Given the description of an element on the screen output the (x, y) to click on. 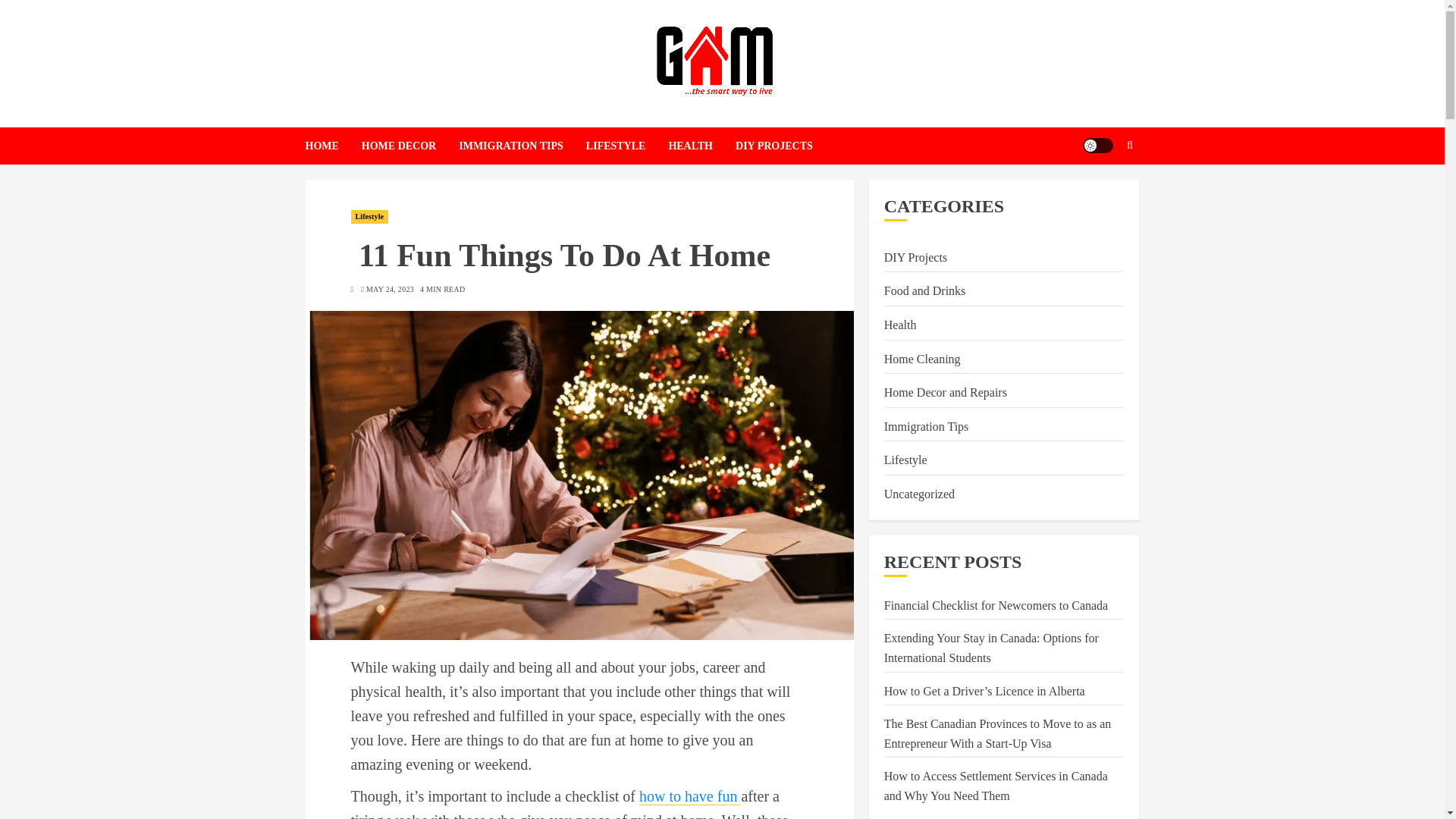
Uncategorized (919, 494)
DIY PROJECTS (773, 145)
HEALTH (701, 145)
Lifestyle (369, 216)
Lifestyle (905, 460)
Home Cleaning (921, 359)
Immigration Tips (926, 426)
LIFESTYLE (627, 145)
how to have fun (690, 796)
Home Decor and Repairs (945, 393)
